Given the description of an element on the screen output the (x, y) to click on. 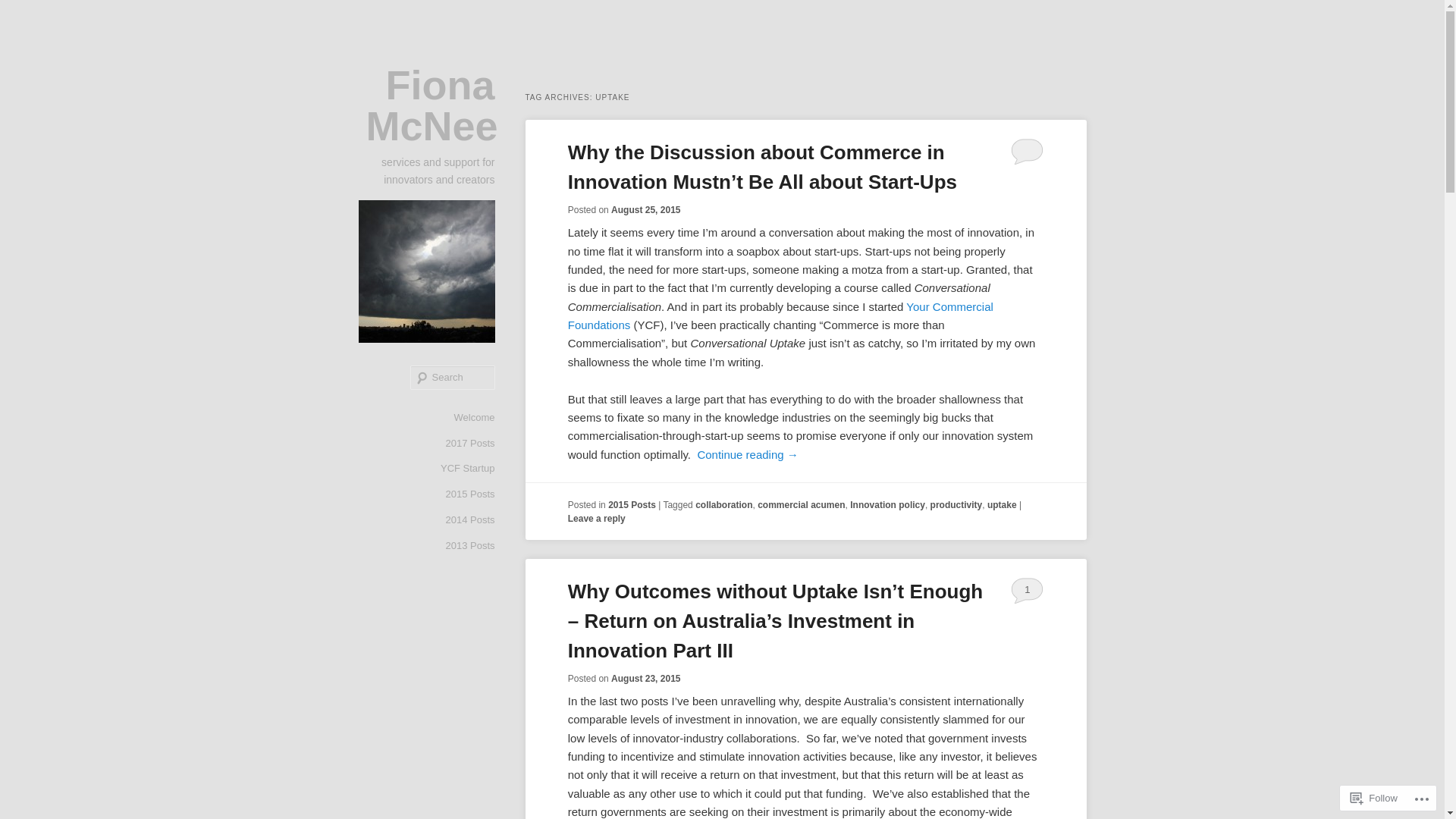
August 23, 2015 Element type: text (645, 678)
Innovation policy Element type: text (887, 504)
2015 Posts Element type: text (469, 494)
2017 Posts Element type: text (469, 443)
Search Element type: text (24, 8)
productivity Element type: text (956, 504)
2013 Posts Element type: text (469, 545)
Follow Element type: text (1373, 797)
1 Element type: text (1026, 589)
Welcome Element type: text (474, 417)
Fiona McNee Element type: text (431, 105)
2014 Posts Element type: text (469, 520)
August 25, 2015 Element type: text (645, 209)
Leave a reply Element type: text (596, 518)
commercial acumen Element type: text (800, 504)
2015 Posts Element type: text (631, 504)
Your Commercial Foundations Element type: text (780, 315)
Skip to primary content Element type: text (22, 45)
collaboration Element type: text (723, 504)
uptake Element type: text (1001, 504)
YCF Startup Element type: text (467, 468)
